Given the description of an element on the screen output the (x, y) to click on. 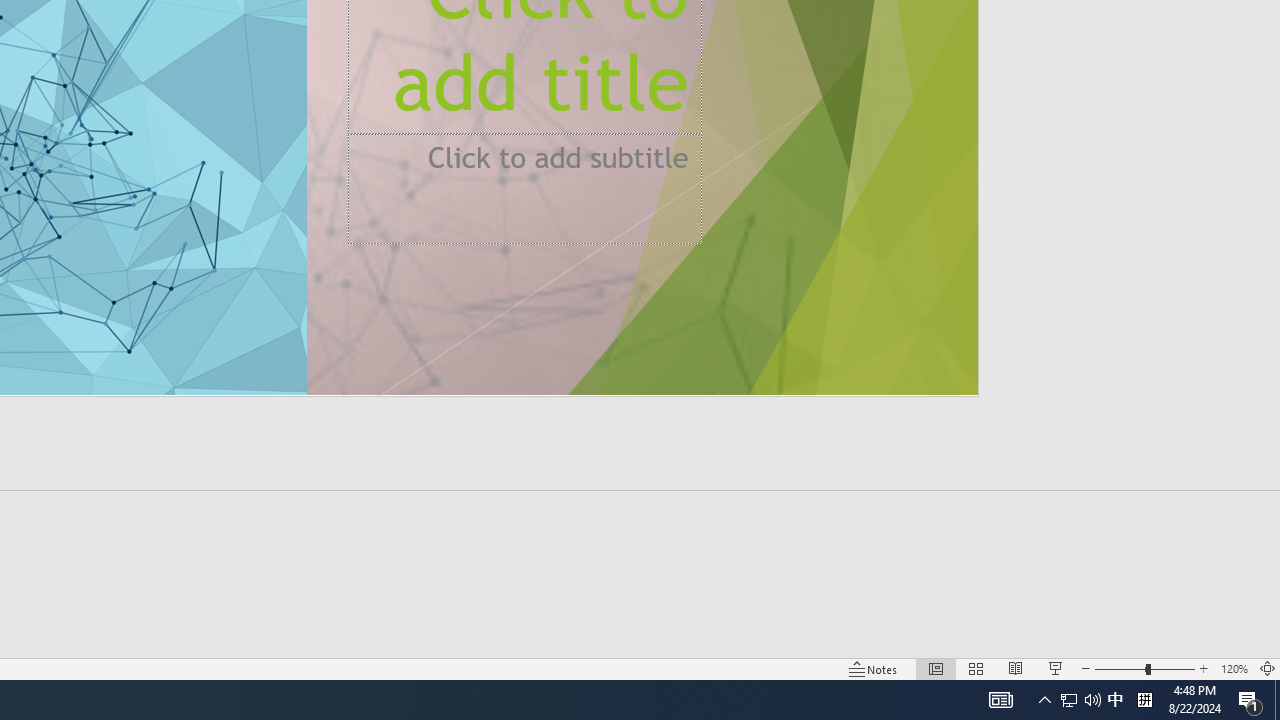
Zoom 120% (1234, 668)
